Given the description of an element on the screen output the (x, y) to click on. 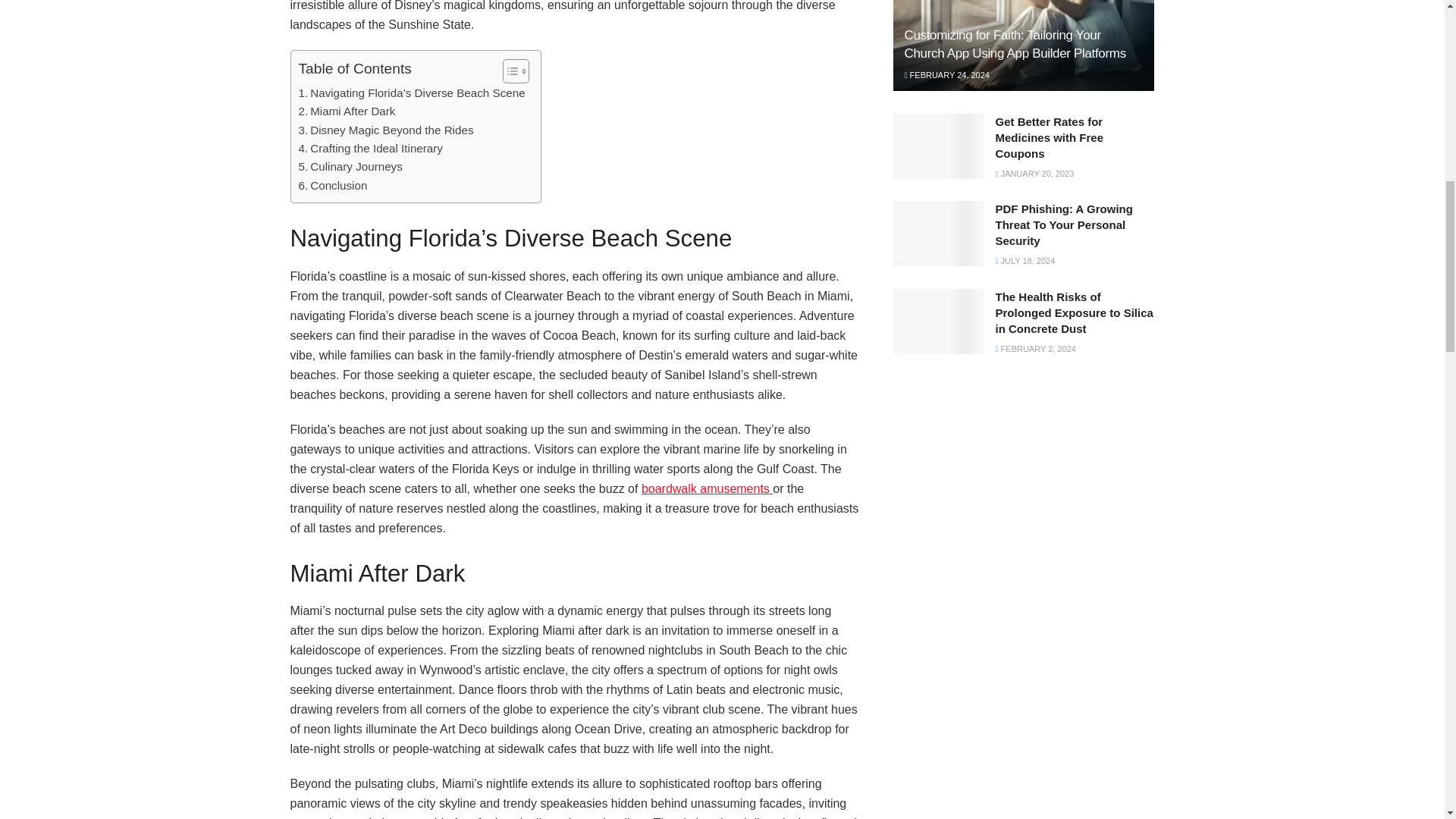
Crafting the Ideal Itinerary (370, 148)
Disney Magic Beyond the Rides (386, 130)
Conclusion (333, 185)
Miami After Dark (347, 111)
Culinary Journeys (350, 167)
